Given the description of an element on the screen output the (x, y) to click on. 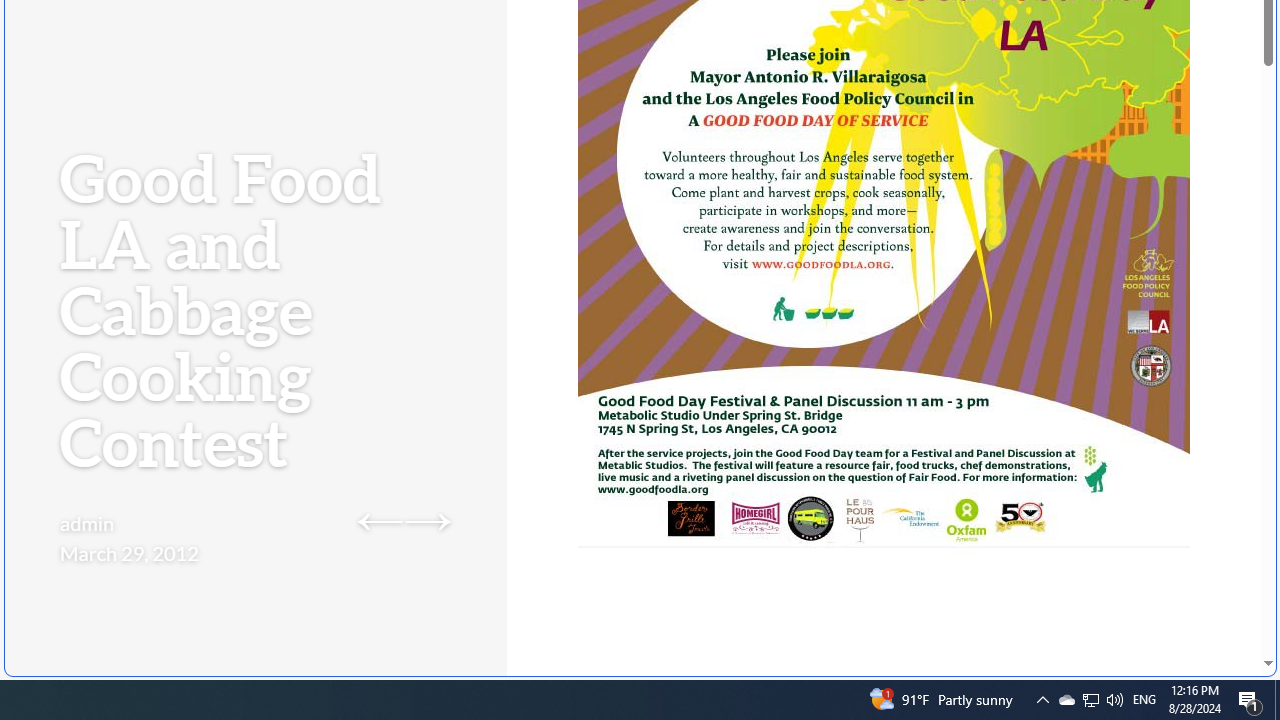
admin (87, 522)
March 29, 2012 (129, 552)
